Given the description of an element on the screen output the (x, y) to click on. 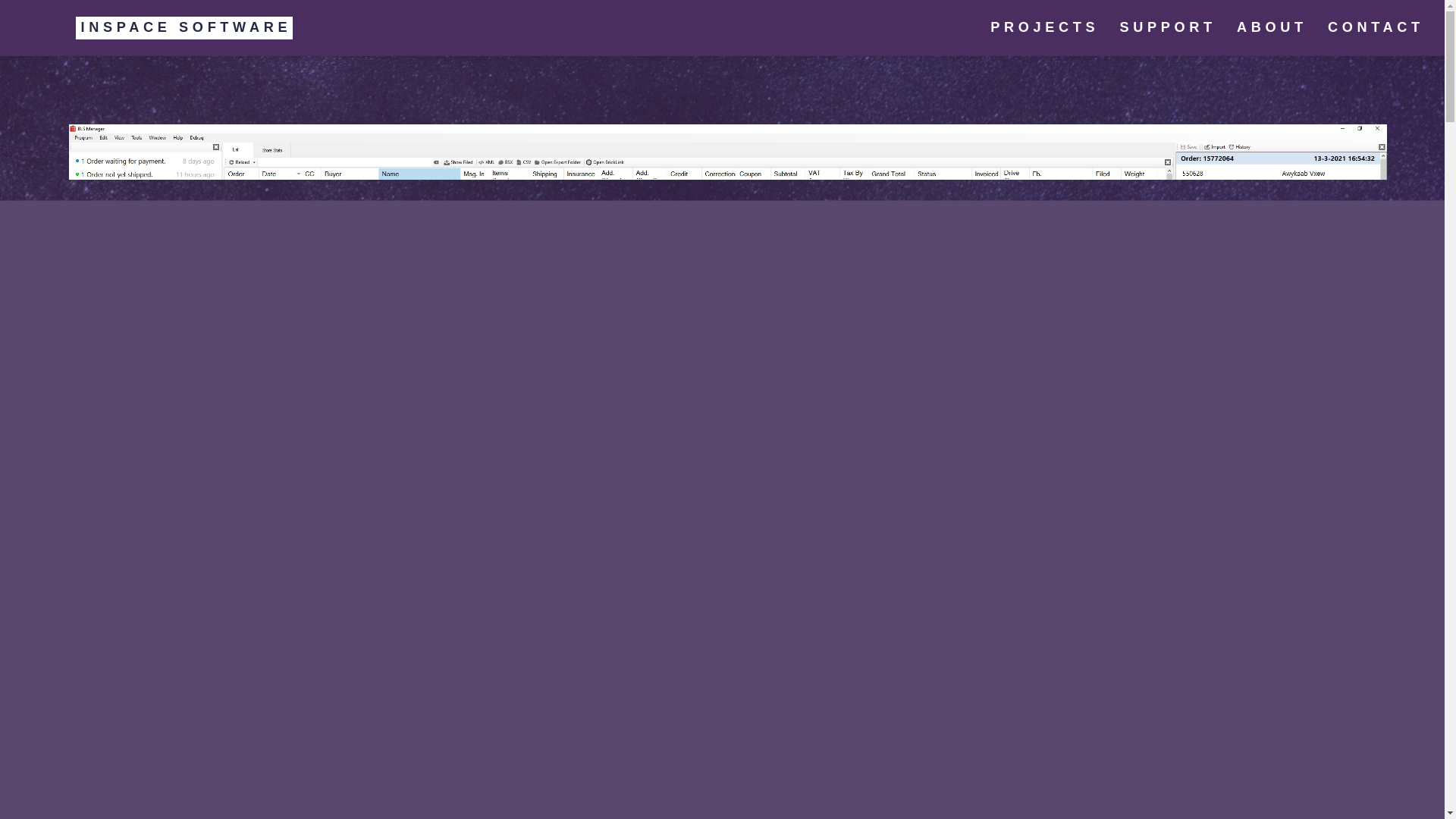
INSPACE SOFTWARE (159, 28)
PROJECTS (1044, 28)
ABOUT (1271, 28)
SUPPORT (1167, 28)
